Given the description of an element on the screen output the (x, y) to click on. 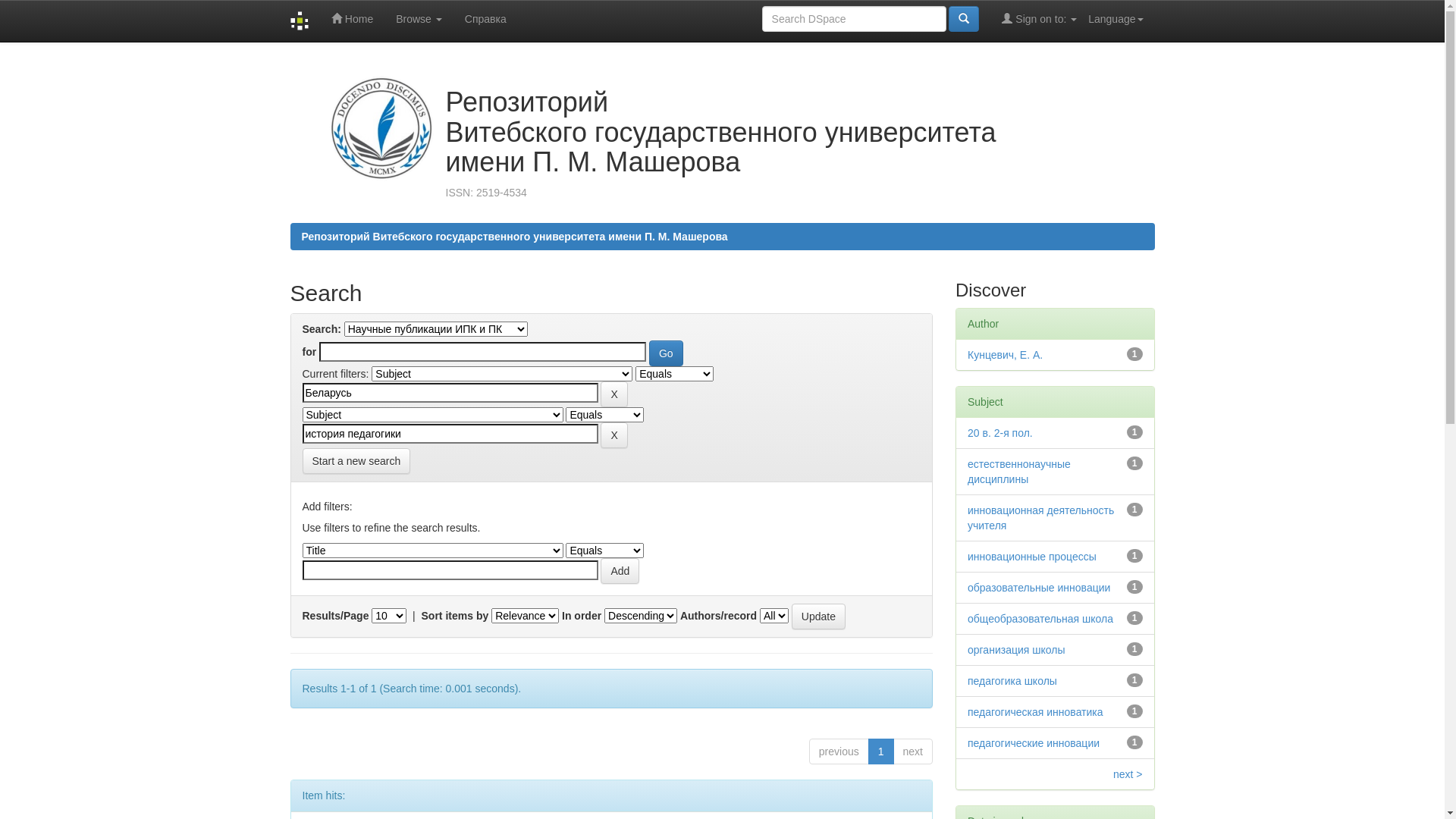
Start a new search Element type: text (355, 460)
Update Element type: text (818, 616)
Language Element type: text (1115, 18)
X Element type: text (613, 435)
Home Element type: text (352, 18)
Add Element type: text (619, 570)
Browse Element type: text (418, 18)
Go Element type: text (666, 353)
X Element type: text (613, 394)
Sign on to: Element type: text (1039, 18)
